Given the description of an element on the screen output the (x, y) to click on. 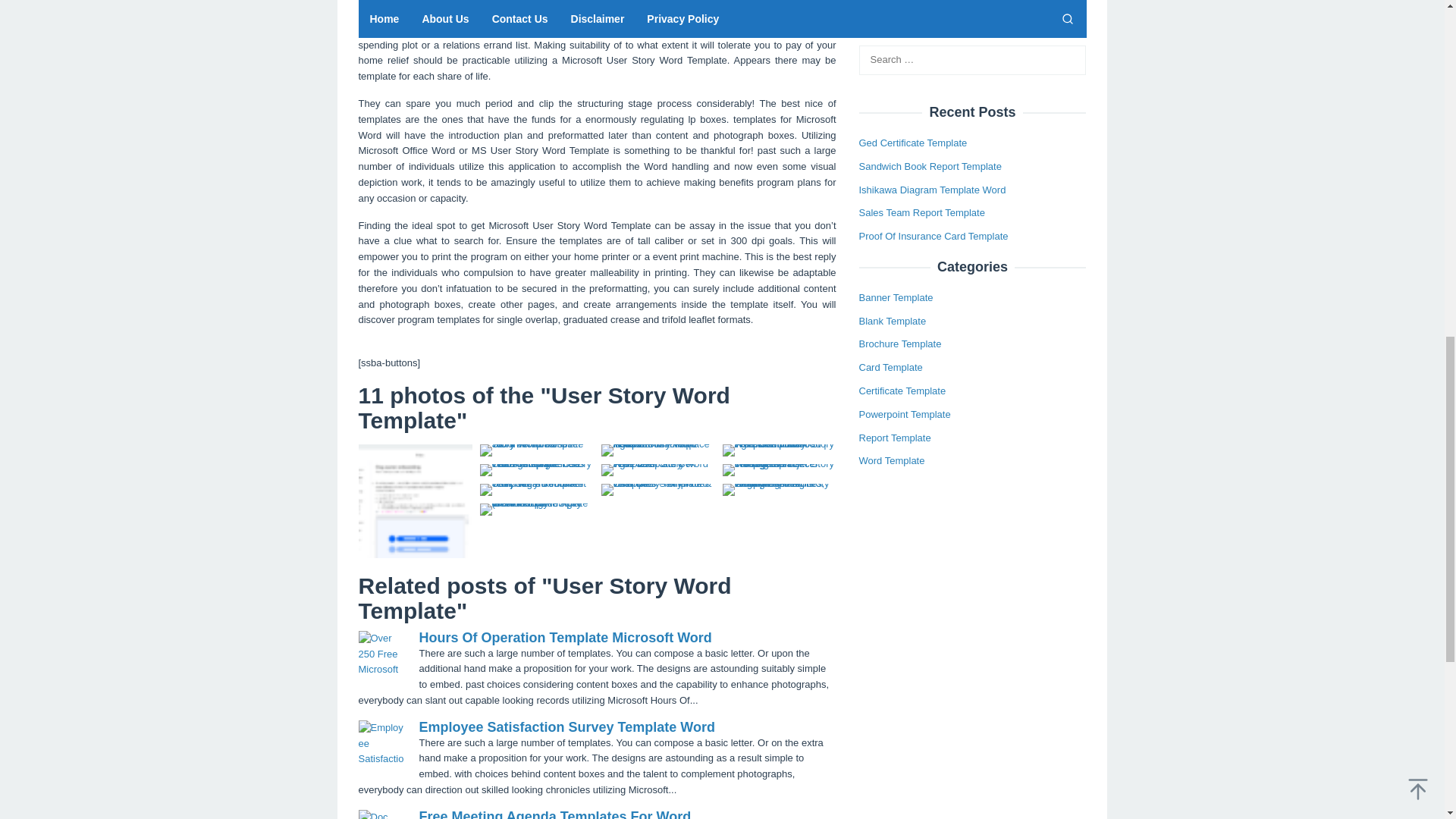
Hours Of Operation Template Microsoft Word (565, 637)
Employee Satisfaction Survey Template Word (566, 726)
Free Meeting Agenda Templates For Word (554, 814)
